Given the description of an element on the screen output the (x, y) to click on. 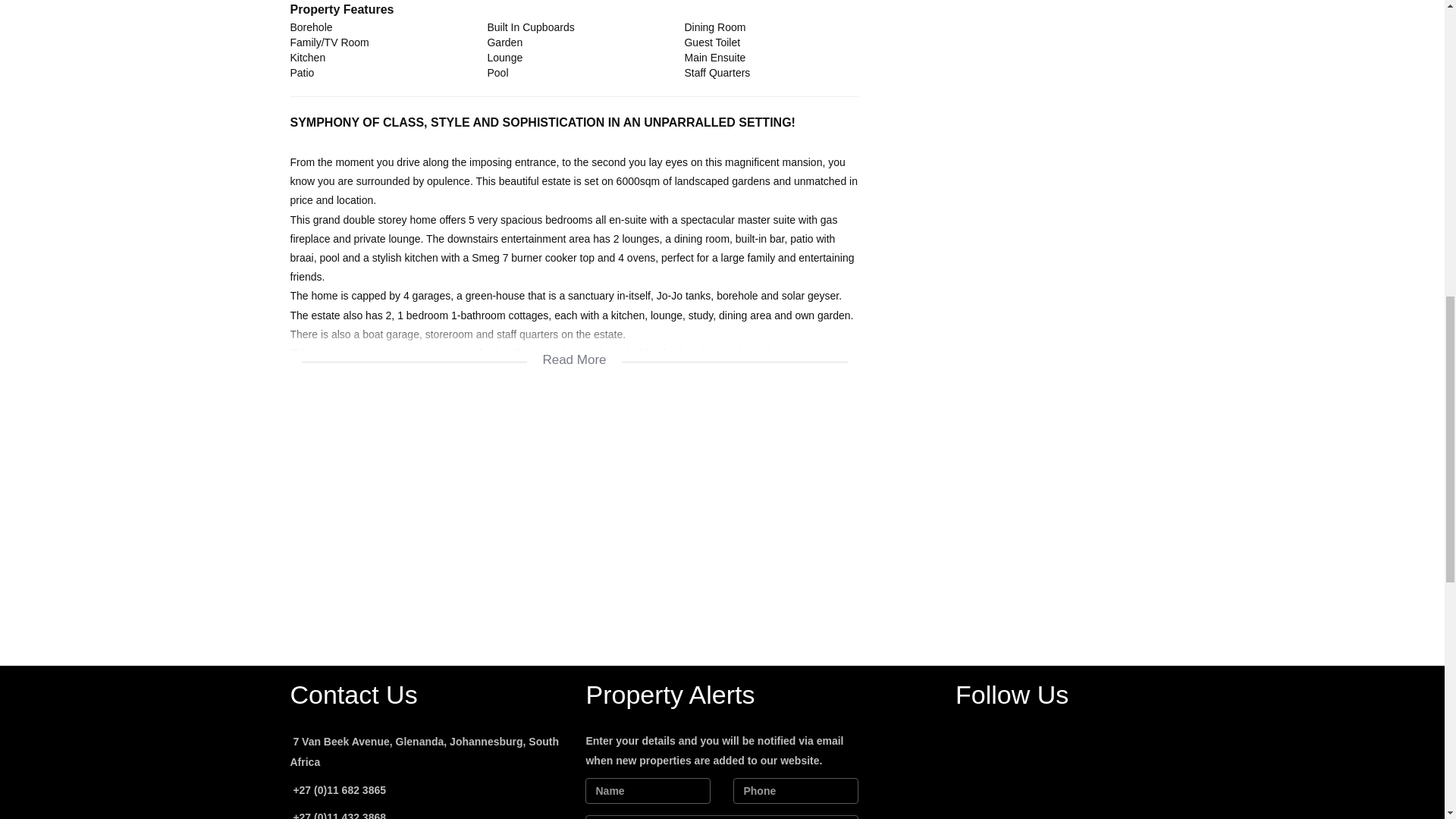
google map (574, 513)
Read More (574, 350)
Read More (574, 350)
